Given the description of an element on the screen output the (x, y) to click on. 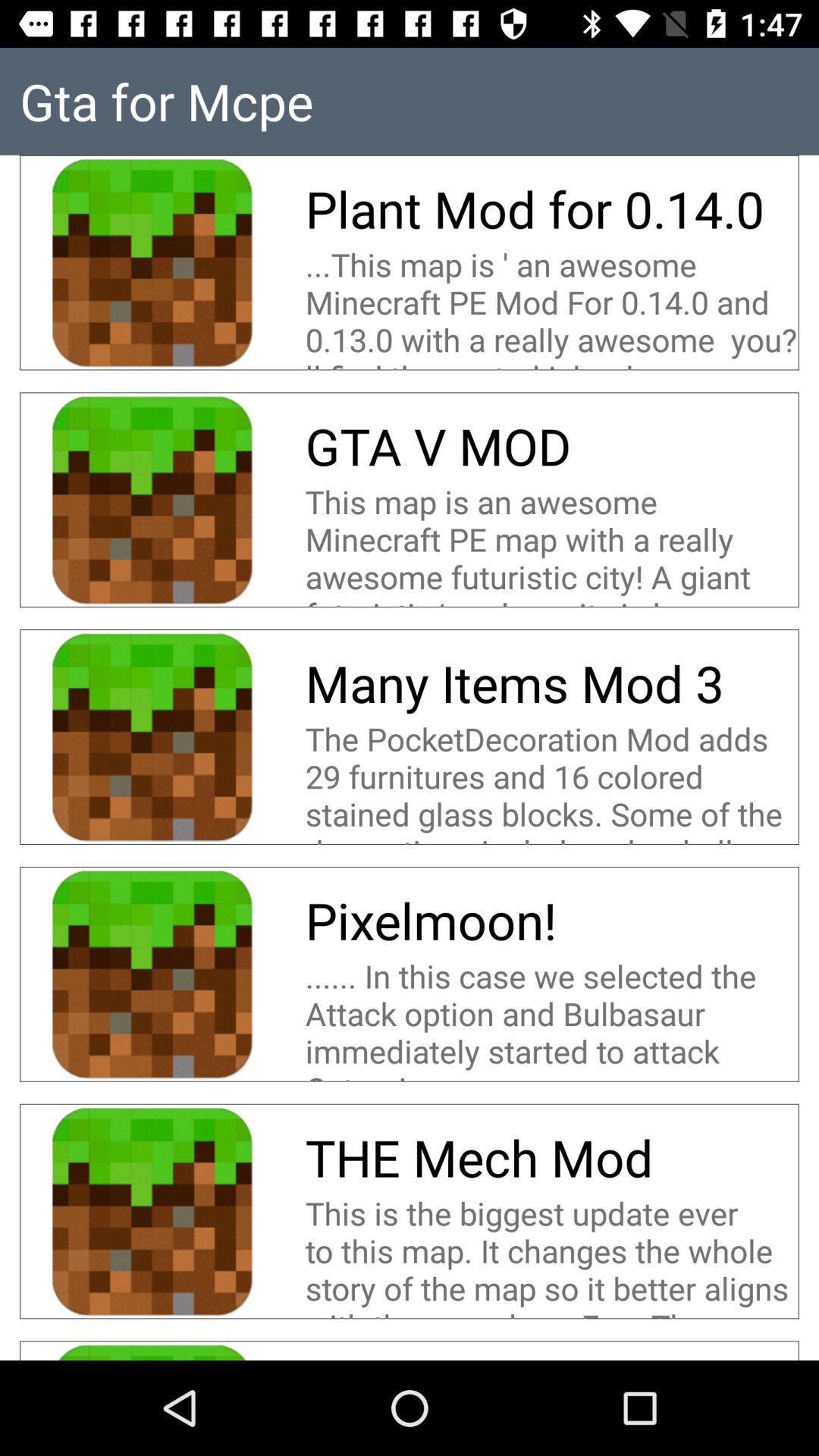
click item above the the pocketdecoration mod icon (520, 683)
